Given the description of an element on the screen output the (x, y) to click on. 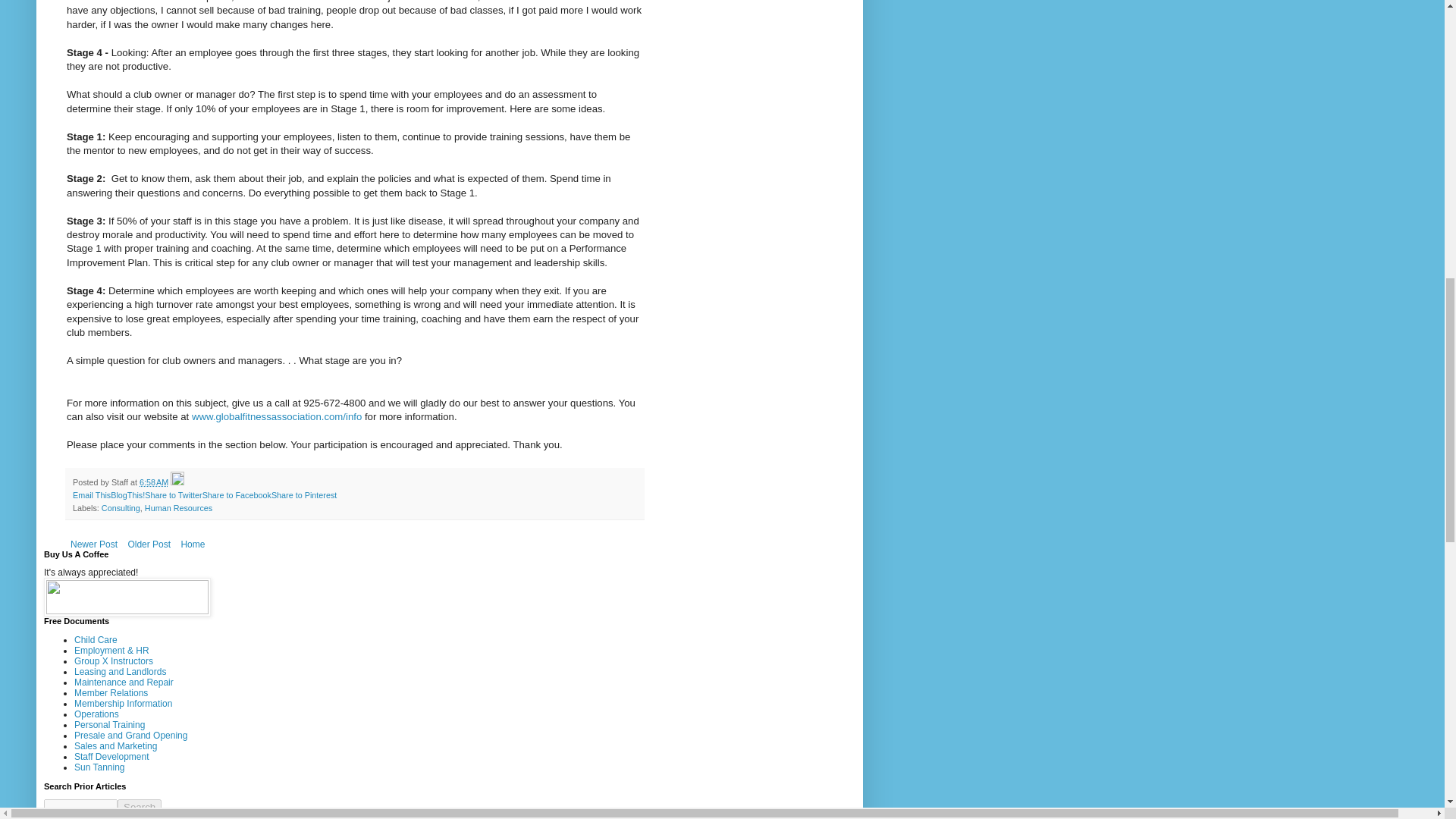
search (80, 806)
Newer Post (93, 544)
Member Relations (111, 692)
Share to Facebook (236, 494)
Home (192, 544)
Staff Development (111, 756)
Presale and Grand Opening (130, 735)
BlogThis! (127, 494)
BlogThis! (127, 494)
Group X Instructors (113, 661)
Search (139, 806)
Search (139, 806)
Operations (96, 714)
Share to Facebook (236, 494)
Edit Post (177, 481)
